Given the description of an element on the screen output the (x, y) to click on. 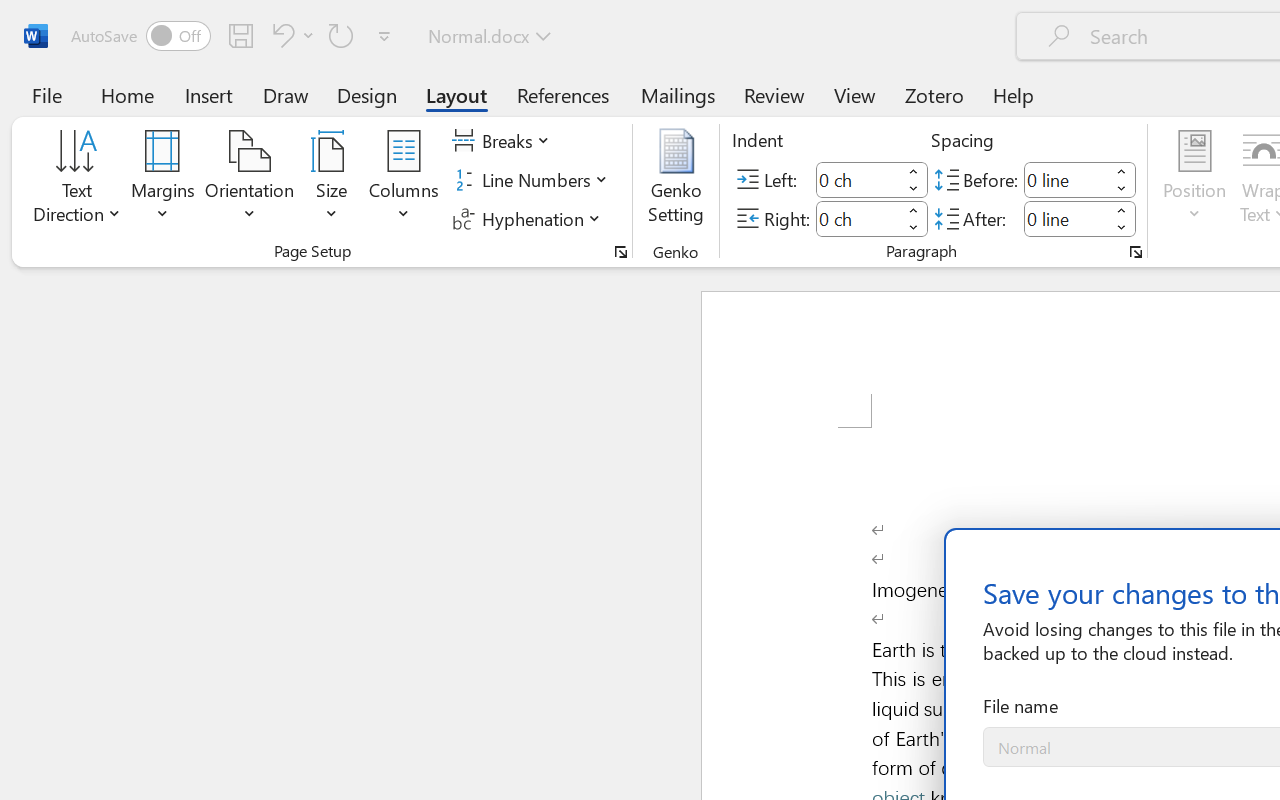
Indent Right (858, 218)
Genko Setting... (676, 179)
Undo Paste Destination Formatting (290, 35)
Undo Paste Destination Formatting (280, 35)
Paragraph... (1135, 252)
Spacing Before (1066, 179)
Text Direction (77, 179)
